Given the description of an element on the screen output the (x, y) to click on. 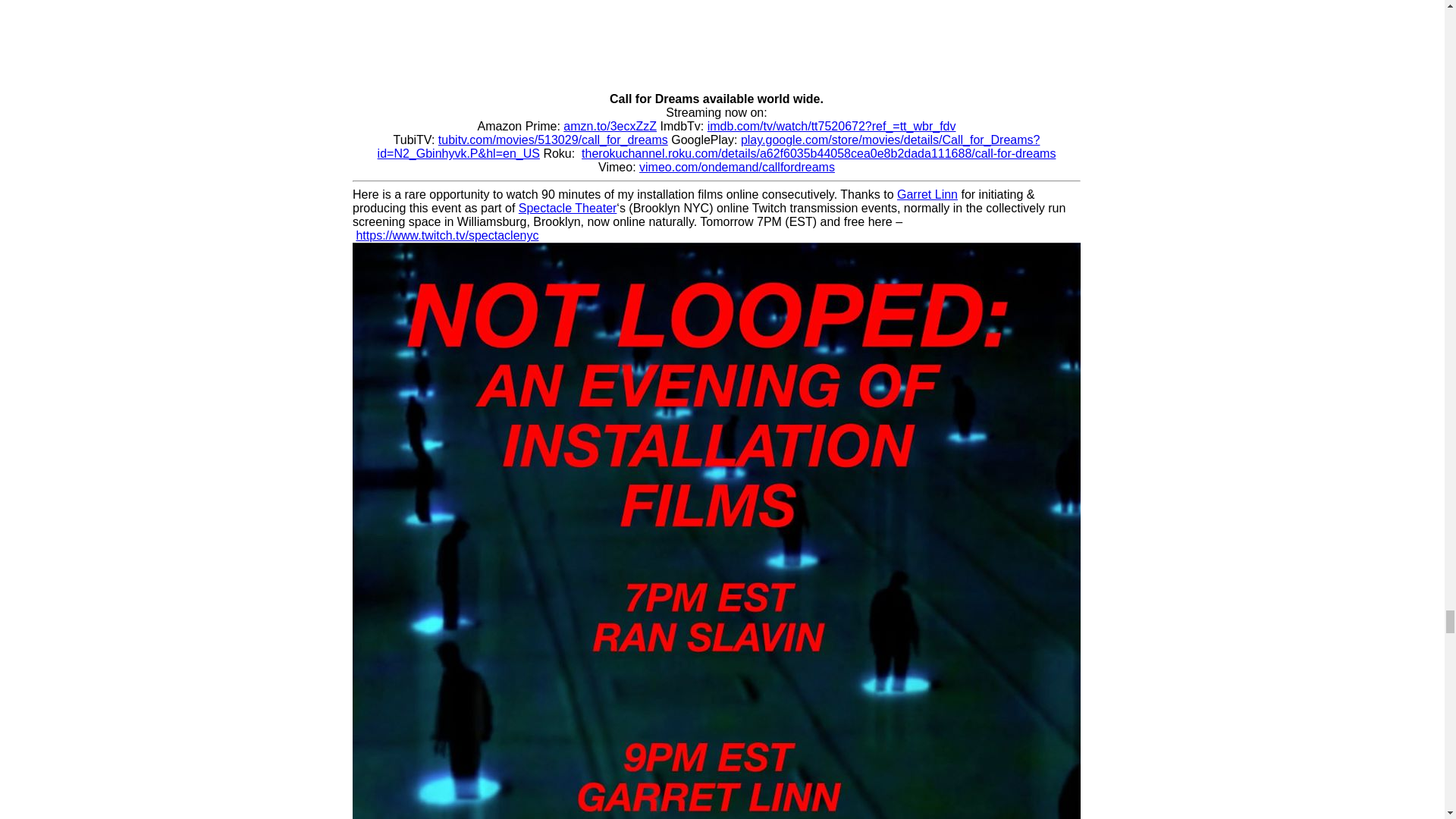
Garret Linn (927, 194)
